Given the description of an element on the screen output the (x, y) to click on. 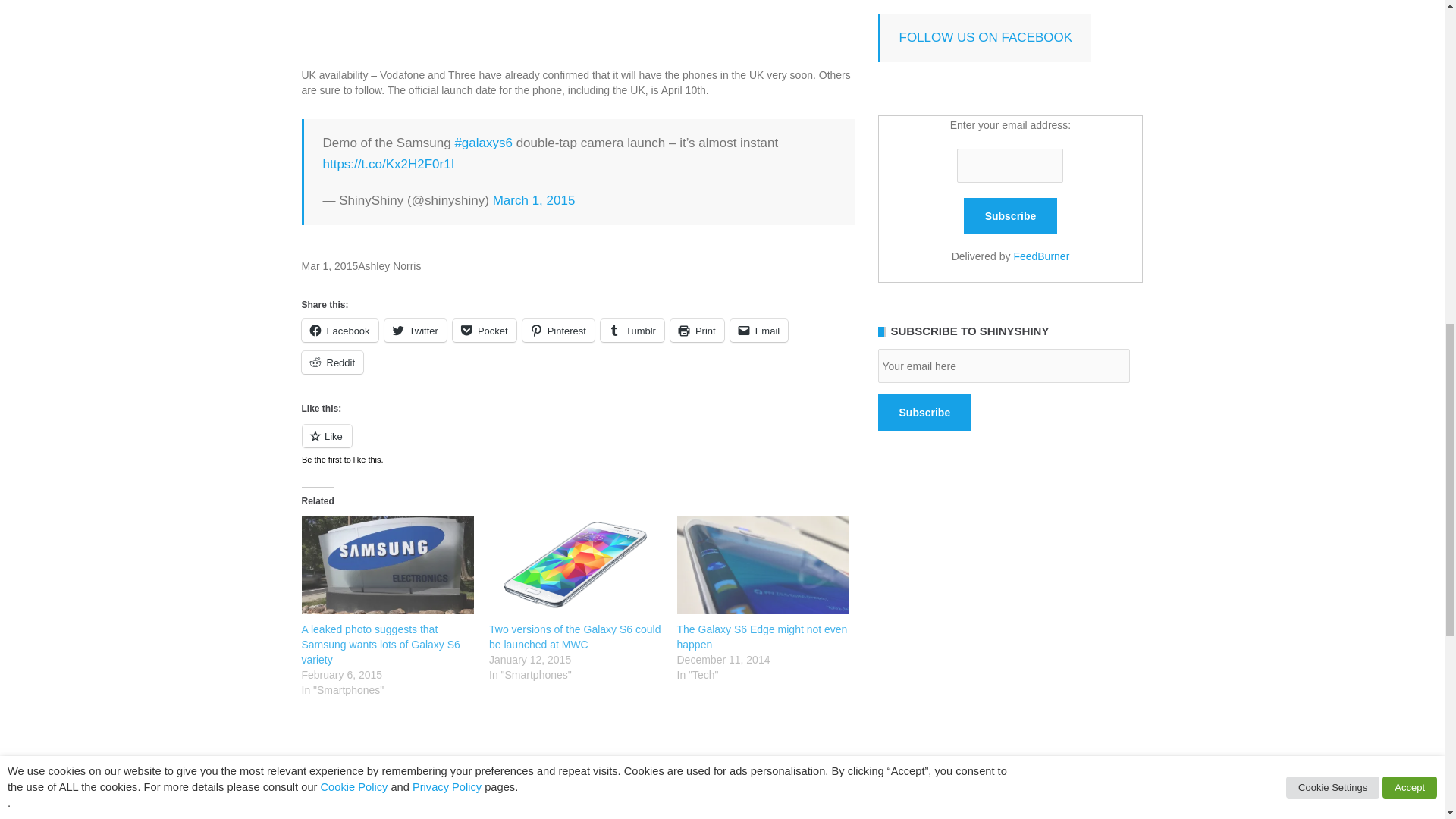
Click to share on Pinterest (558, 330)
The Galaxy S6 Edge might not even happen (762, 564)
Your email here (1003, 365)
Two versions of the Galaxy S6 could be launched at MWC (575, 636)
The Galaxy S6 Edge might not even happen (762, 636)
Subscribe (1010, 216)
Two versions of the Galaxy S6 could be launched at MWC (575, 564)
Like or Reblog (578, 445)
Click to print (696, 330)
Click to email a link to a friend (759, 330)
Your email here (1003, 365)
Click to share on Twitter (415, 330)
Click to share on Facebook (339, 330)
